Given the description of an element on the screen output the (x, y) to click on. 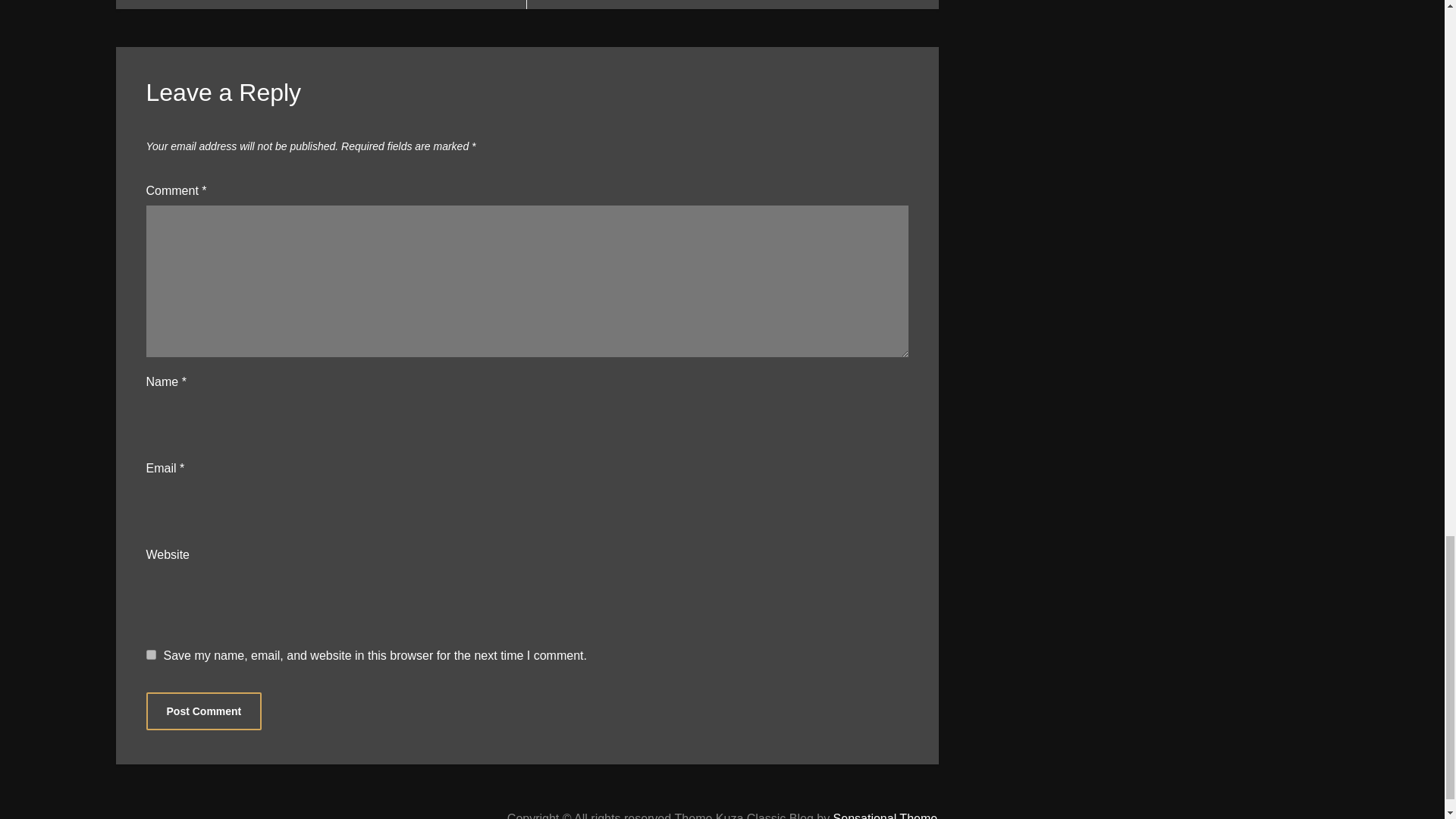
yes (150, 655)
Post Comment (203, 711)
Inside the Booth: The Craft of Sports Commentary (733, 4)
Enneagram Wings: The Dance of Self-Discovery (321, 4)
